Given the description of an element on the screen output the (x, y) to click on. 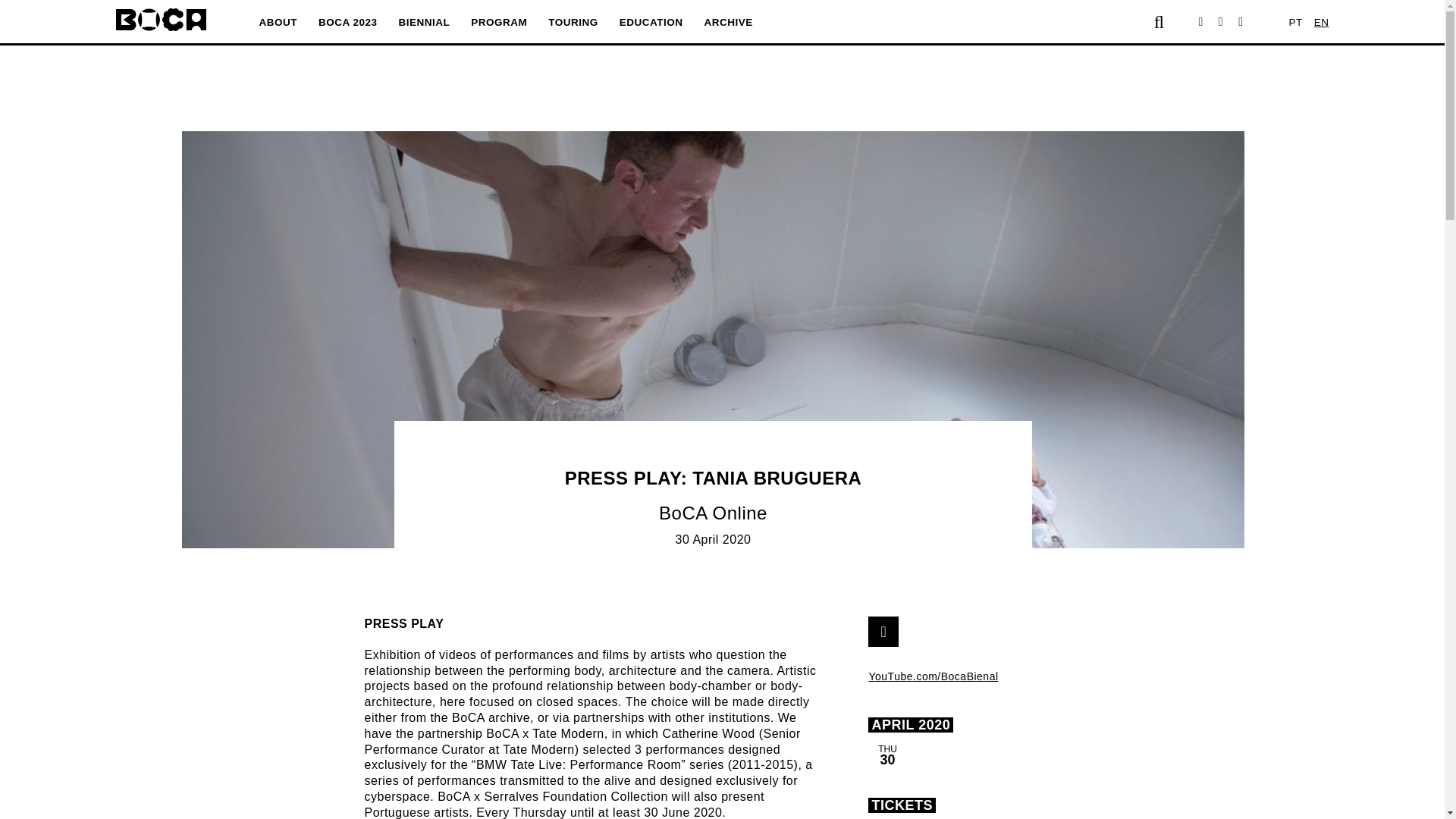
TOURING (573, 21)
PROGRAM (498, 21)
ARCHIVE (728, 21)
EDUCATION (650, 21)
BIENNIAL (424, 21)
ABOUT (278, 21)
BOCA 2023 (347, 21)
